Given the description of an element on the screen output the (x, y) to click on. 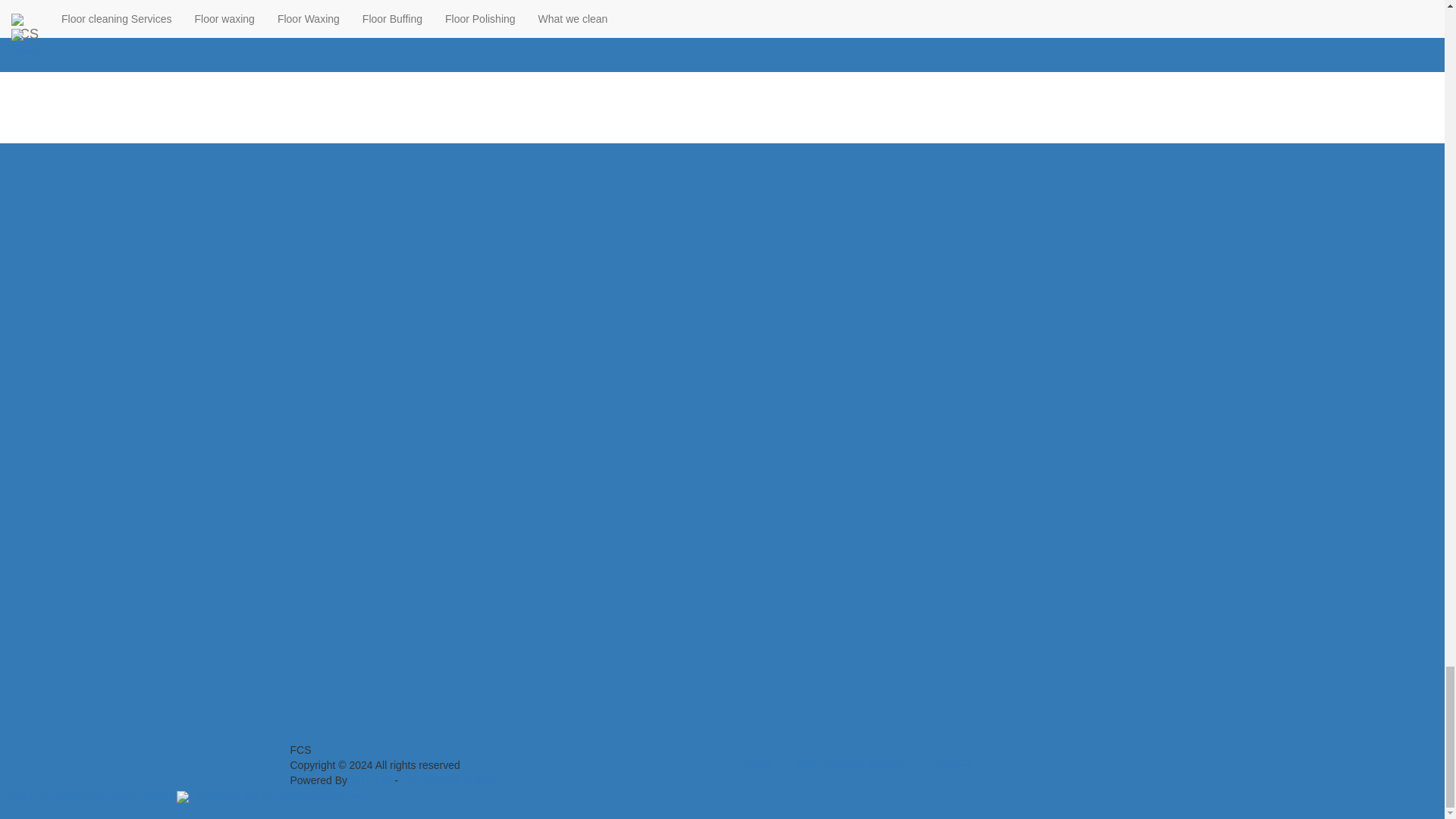
Floor cleaning Services (851, 761)
Contacts (949, 761)
Home (758, 761)
Home (758, 761)
Contacts (949, 761)
SITE123 (370, 779)
Report Abuse (344, 795)
I BUILT MY SITE FOR FREE USING    CREATE YOUR WEBSITE (161, 795)
Floor cleaning Services (851, 761)
Free website builder (448, 779)
